Given the description of an element on the screen output the (x, y) to click on. 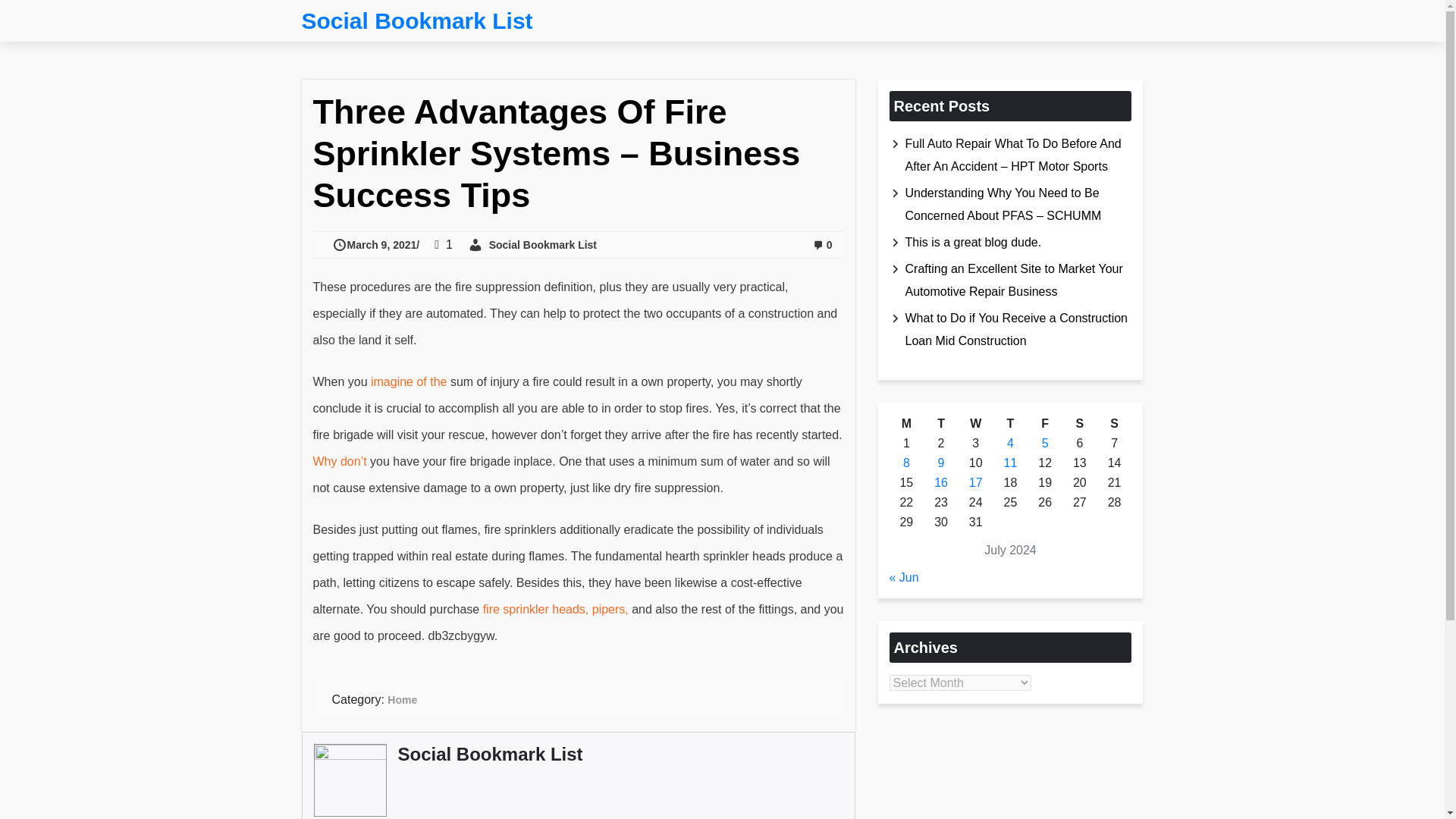
Social Bookmark List (416, 20)
17 (975, 481)
Tuesday (940, 424)
  Social Bookmark List (532, 244)
fire sprinkler heads, pipers, (557, 608)
11 (1010, 462)
Wednesday (975, 424)
Home (401, 699)
Social Bookmark List (489, 753)
Saturday (1079, 424)
16 (940, 481)
Friday (1044, 424)
0 (821, 244)
Thursday (1009, 424)
March 9, 2021 (376, 244)
